Given the description of an element on the screen output the (x, y) to click on. 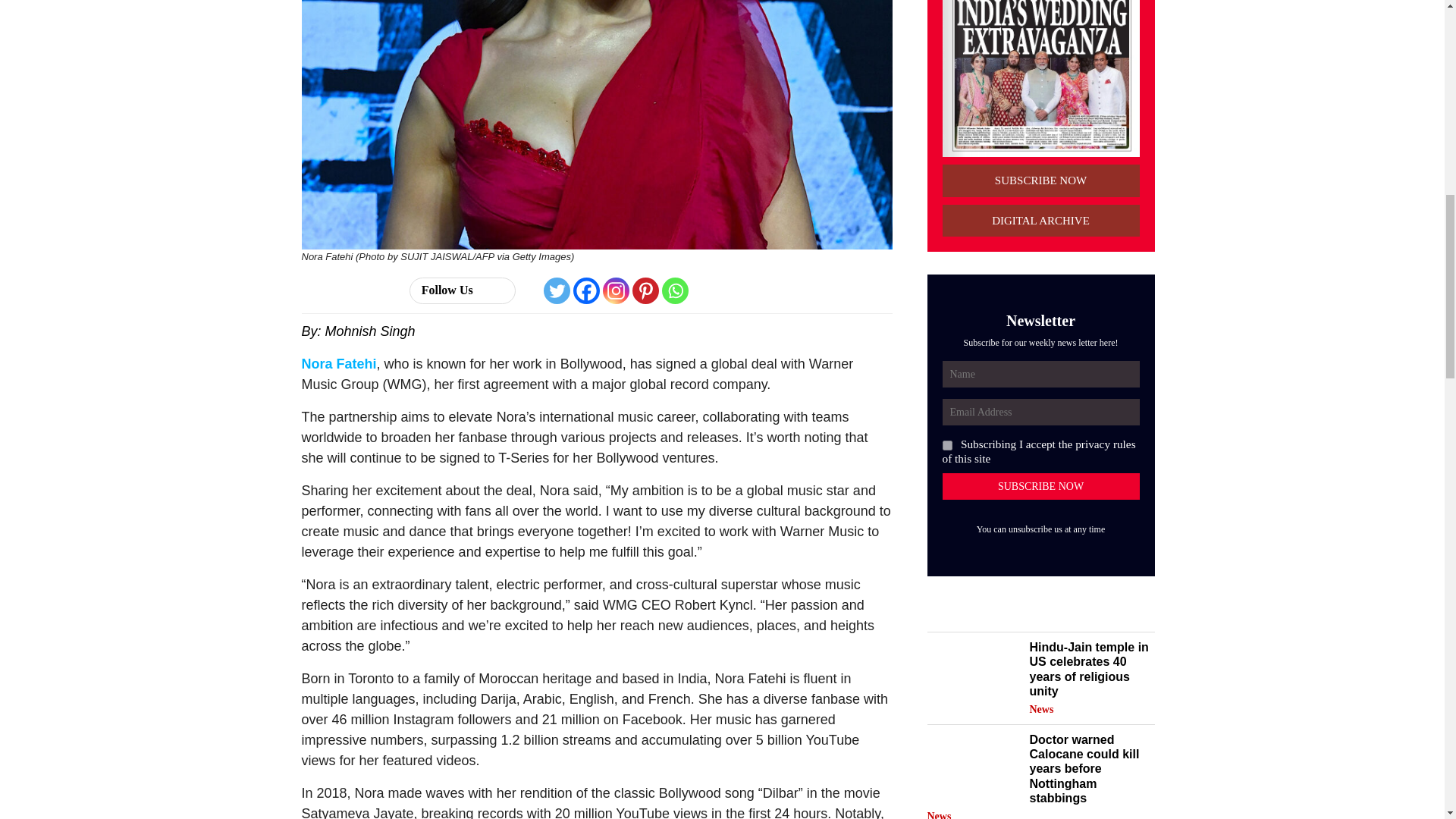
Whatsapp (675, 290)
Subscribe Now (1040, 486)
Pinterest (645, 290)
Twitter (556, 290)
Facebook (586, 290)
on (947, 445)
Instagram (615, 290)
